Given the description of an element on the screen output the (x, y) to click on. 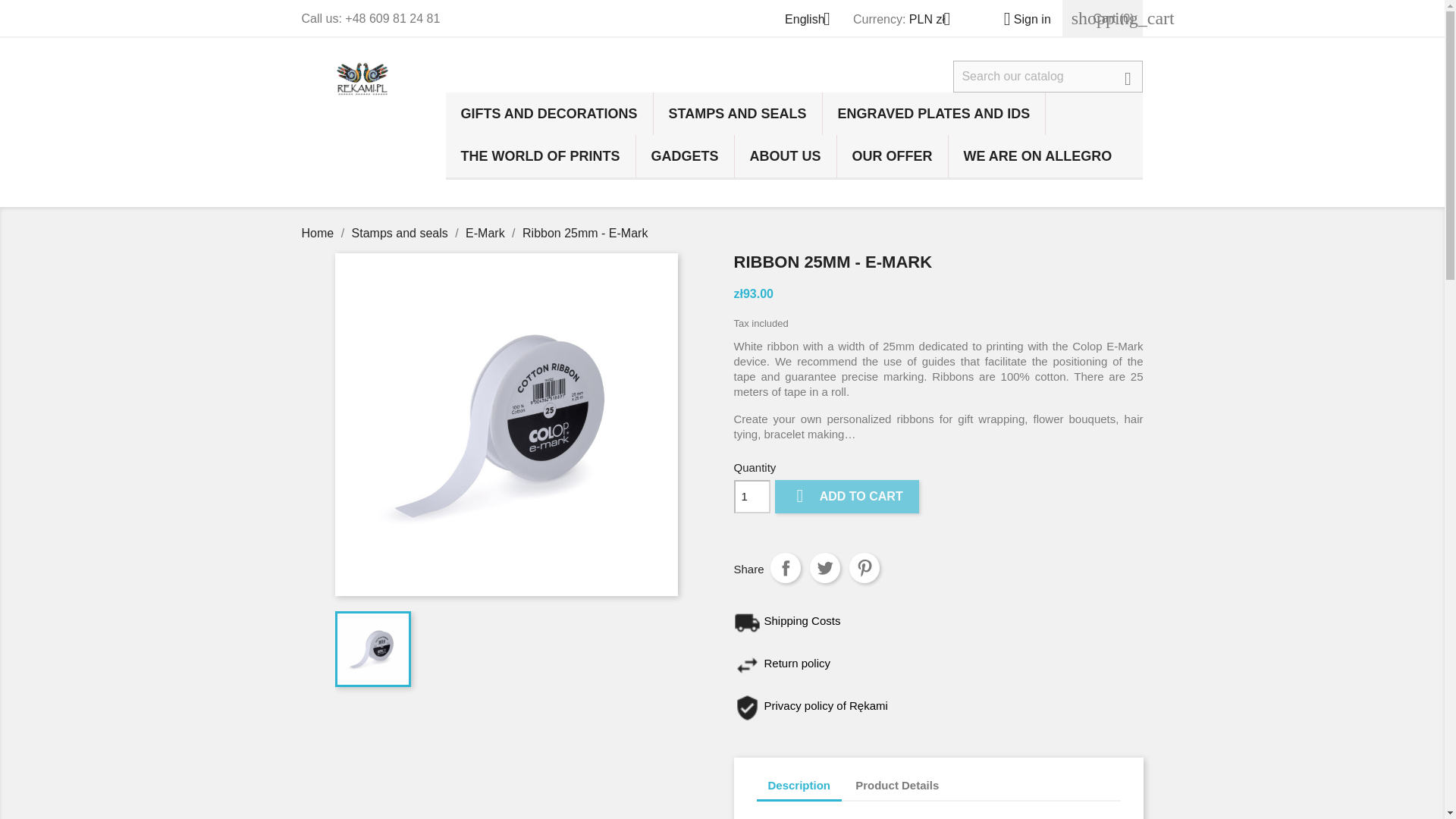
Log in to your customer account (1020, 19)
1 (751, 496)
Gifts and decorations (548, 113)
STAMPS AND SEALS (737, 113)
GIFTS AND DECORATIONS (548, 113)
